Given the description of an element on the screen output the (x, y) to click on. 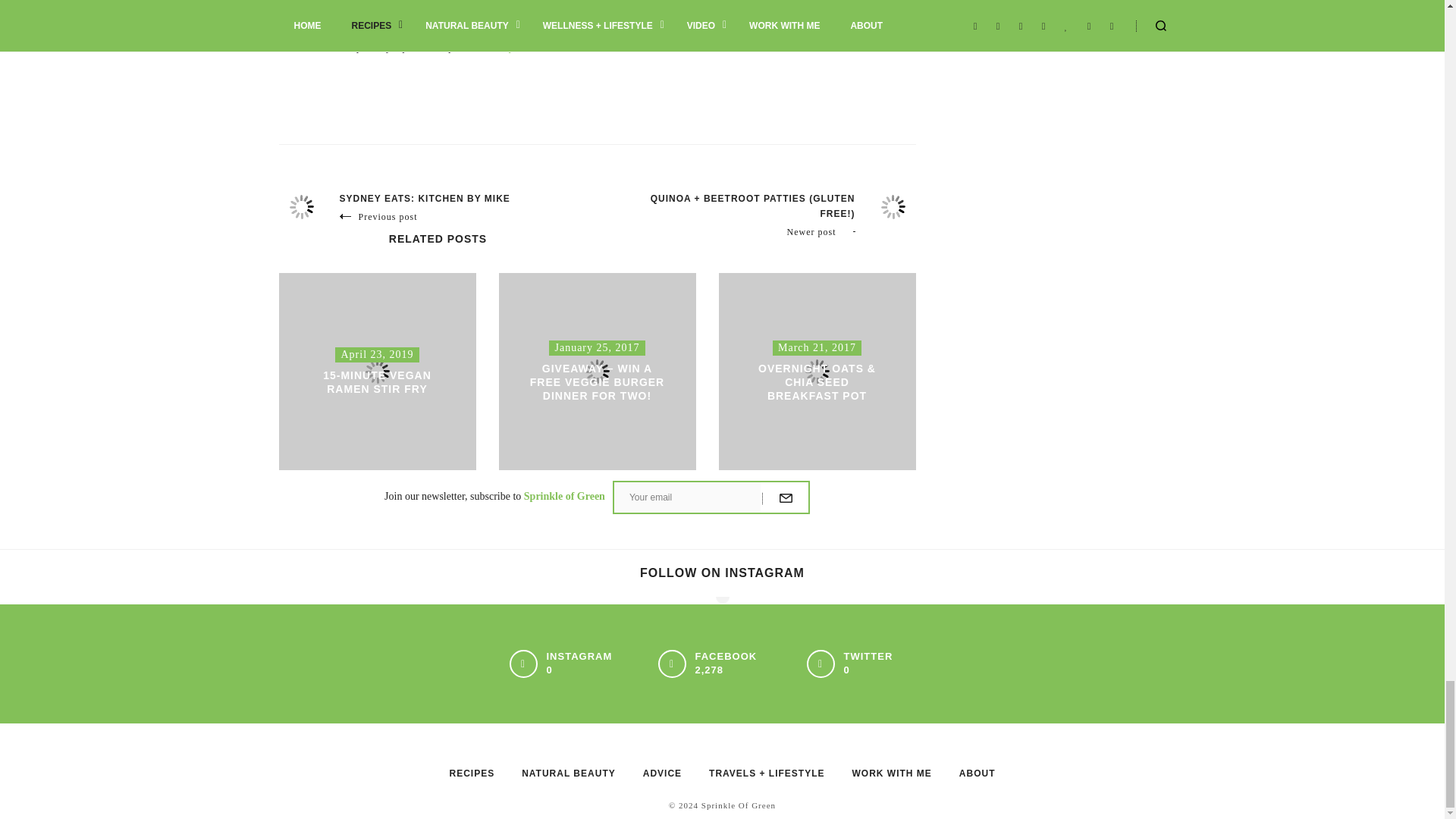
Submit (785, 497)
